Given the description of an element on the screen output the (x, y) to click on. 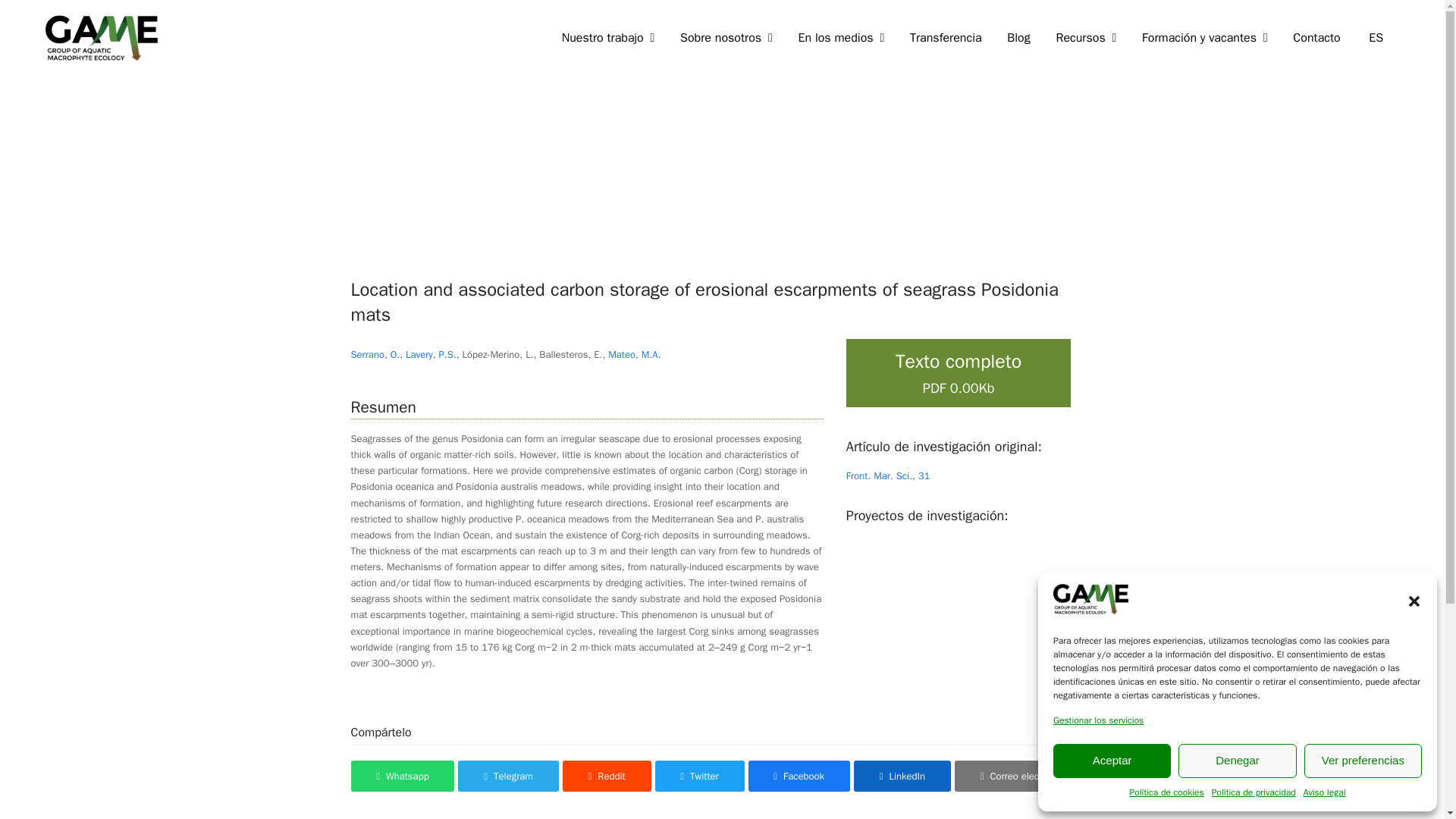
Aviso legal (1324, 792)
Aceptar (1111, 759)
Spanish (1376, 38)
Recursos (1086, 38)
Ver preferencias (1363, 759)
ES (1376, 38)
Nuestro trabajo (607, 38)
Gestionar los servicios (1097, 720)
Denegar (1236, 759)
Blog (1018, 38)
Transferencia (945, 38)
Contacto (1315, 38)
Sobre nosotros (725, 38)
En los medios (841, 38)
